Given the description of an element on the screen output the (x, y) to click on. 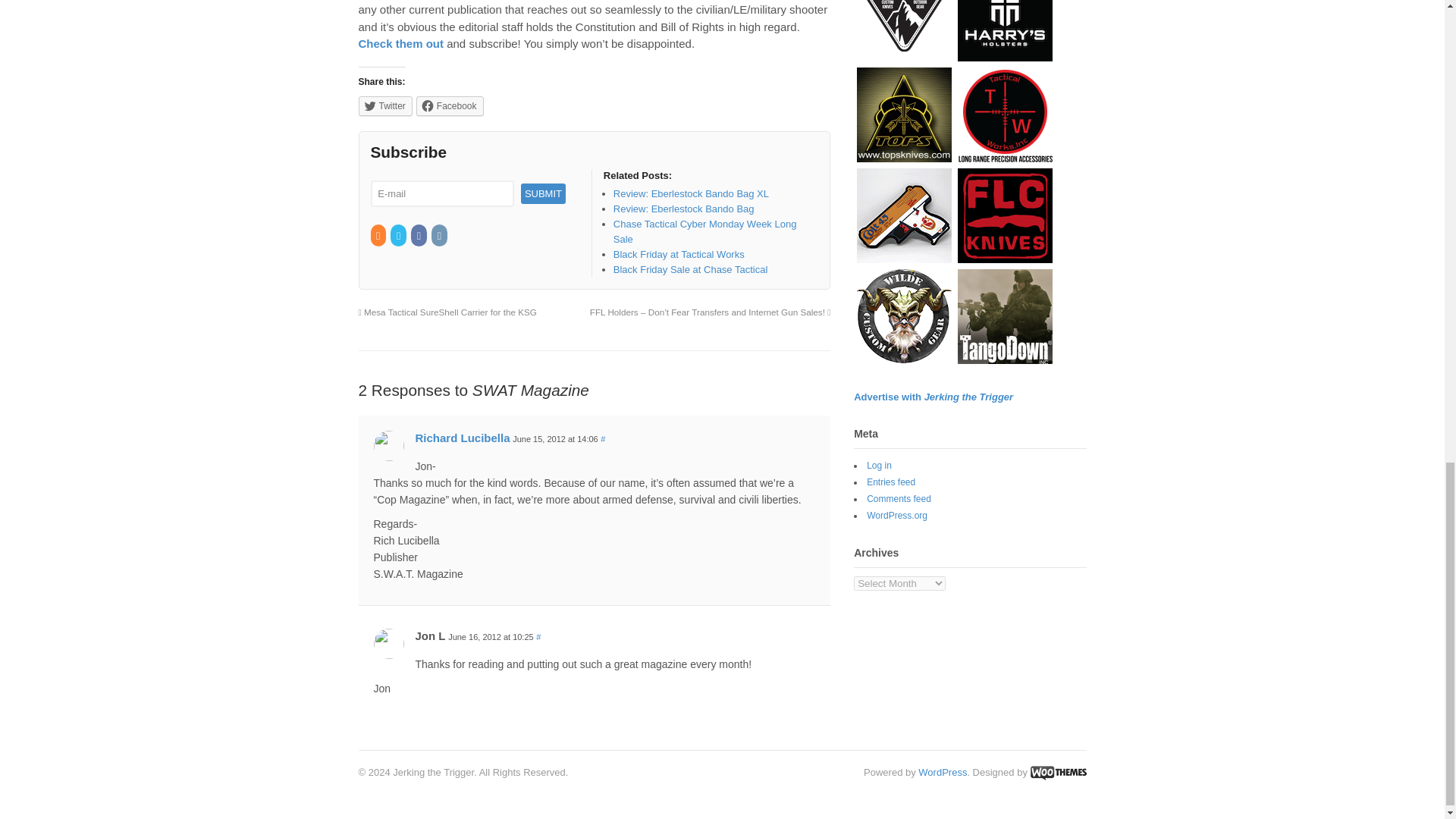
Black Friday Sale at Chase Tactical (690, 269)
Twitter (398, 235)
E-mail (441, 193)
Chase Tactical Cyber Monday Week Long Sale (704, 231)
Click to share on Facebook (449, 106)
Mesa Tactical SureShell Carrier for the KSG (446, 311)
Review: Eberlestock Bando Bag XL (690, 193)
Review: Eberlestock Bando Bag XL (690, 193)
RSS (378, 235)
Richard Lucibella (462, 437)
